Given the description of an element on the screen output the (x, y) to click on. 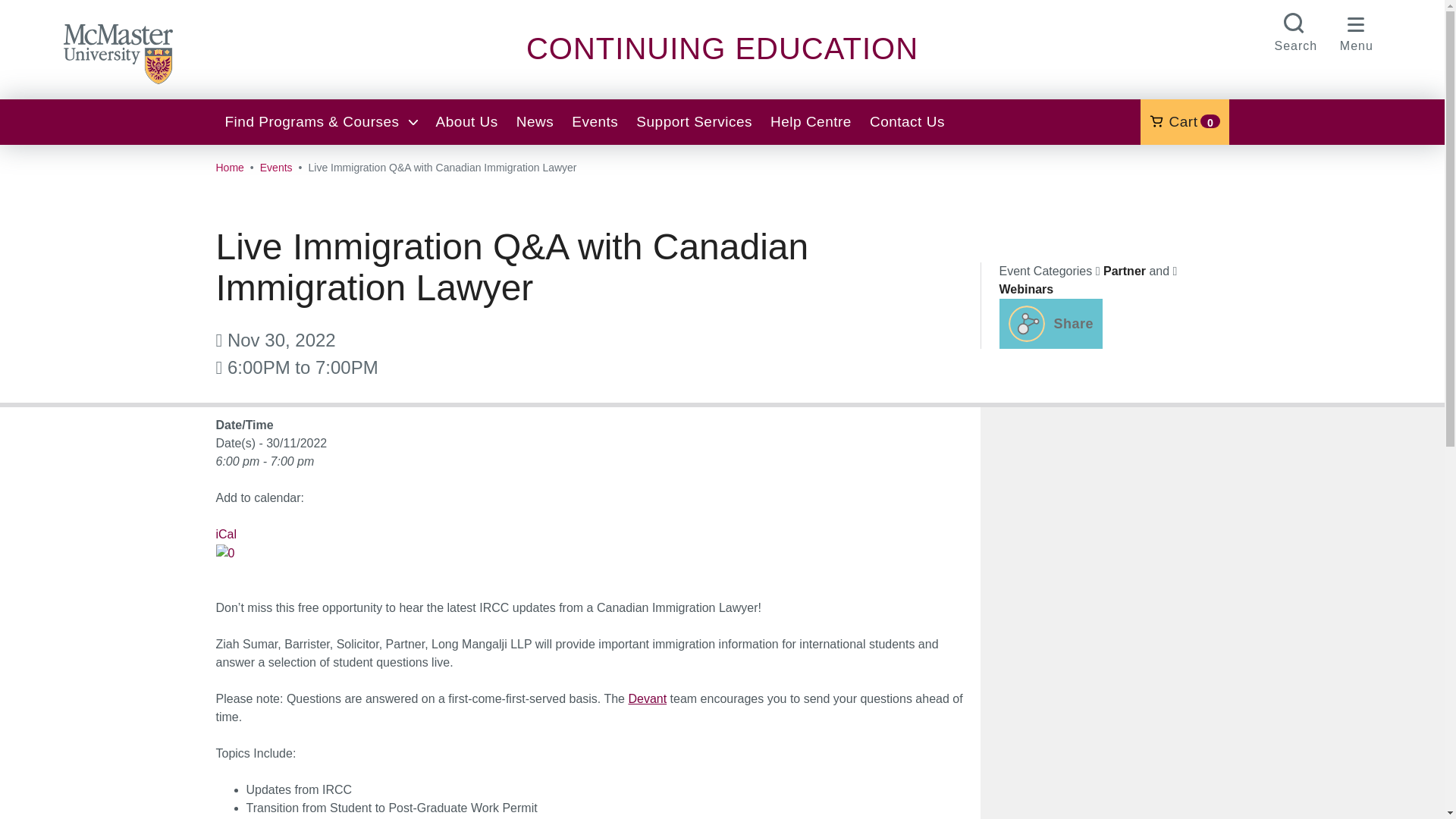
News (1184, 121)
CONTINUING EDUCATION (534, 121)
MENU BUTTON (721, 48)
SEARCH BUTTON (1356, 31)
About Us (1295, 31)
Events (466, 121)
Home (594, 121)
Share (229, 167)
Devant (1050, 323)
